Given the description of an element on the screen output the (x, y) to click on. 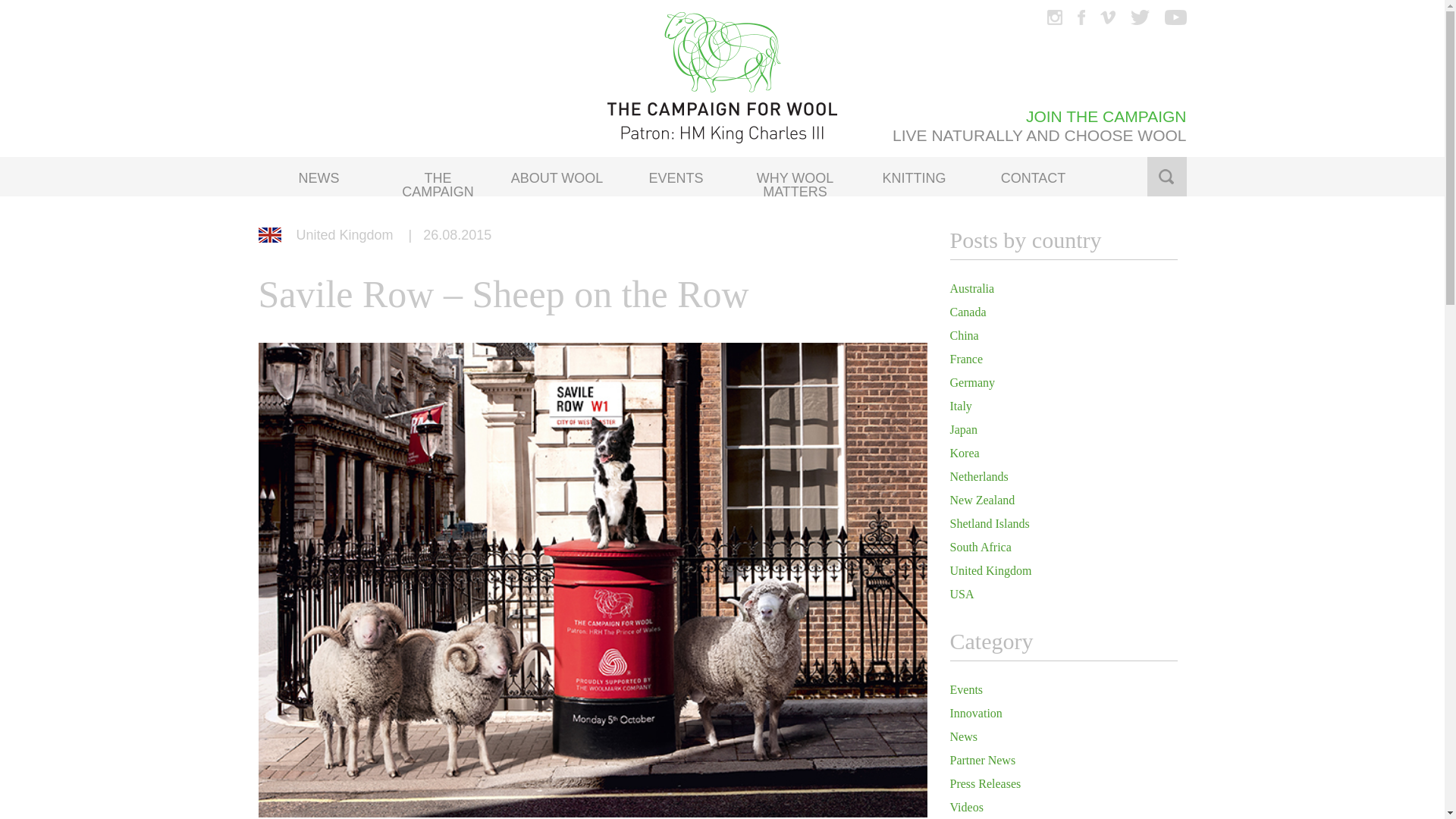
ABOUT WOOL (557, 175)
EVENTS (675, 175)
THE CAMPAIGN (437, 175)
Campaign For Wool (721, 78)
CONTACT (1033, 175)
Campaign For Wool (721, 78)
France (965, 358)
Italy (960, 405)
NEWS (318, 175)
WHY WOOL MATTERS (794, 175)
